Given the description of an element on the screen output the (x, y) to click on. 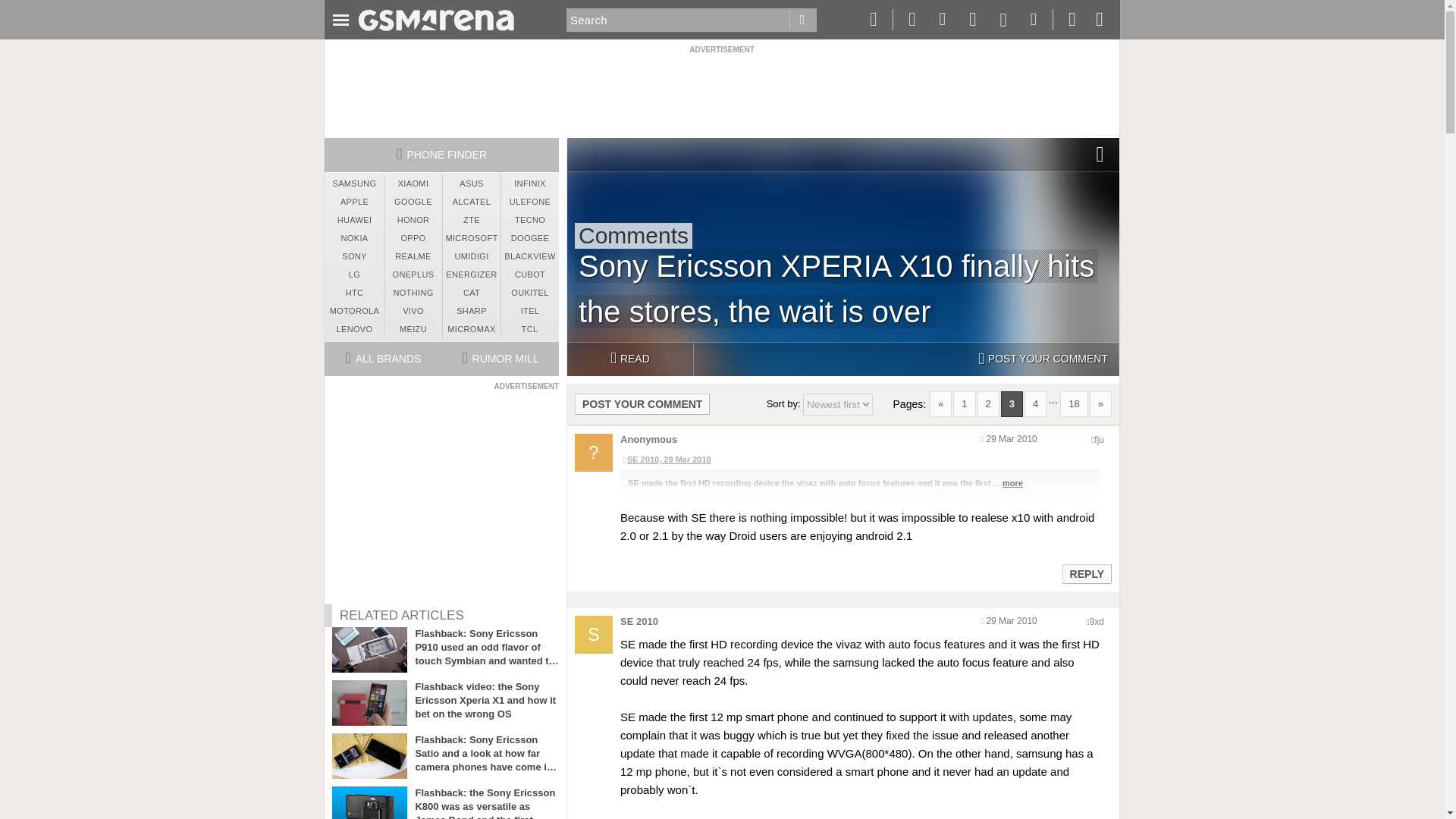
Sort comments by (837, 404)
Reply to this post (1086, 573)
Encoded anonymized location (1096, 621)
18 (1073, 403)
READ (630, 359)
POST YOUR COMMENT (642, 403)
Encoded anonymized location (1098, 439)
Go (802, 19)
POST YOUR COMMENT (1042, 359)
Go (802, 19)
